Given the description of an element on the screen output the (x, y) to click on. 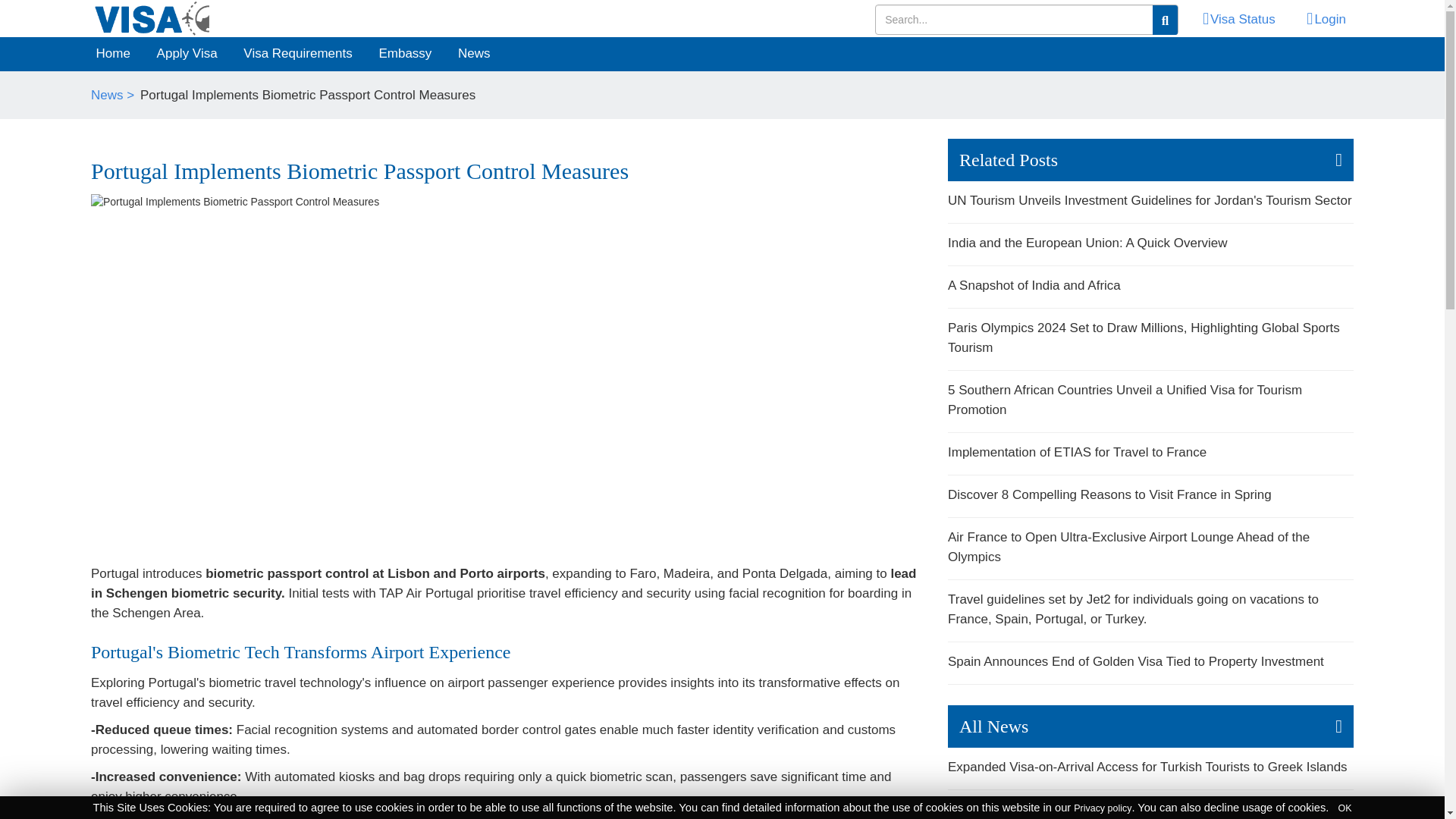
Visa Status (1232, 20)
News (474, 54)
Home (152, 18)
Travel Simplified: Romania Gains Visa-Free Status in Turkey (1150, 809)
Login (1319, 20)
Embassy (404, 54)
Visa Requirements (296, 54)
News (474, 54)
Home (112, 54)
